Given the description of an element on the screen output the (x, y) to click on. 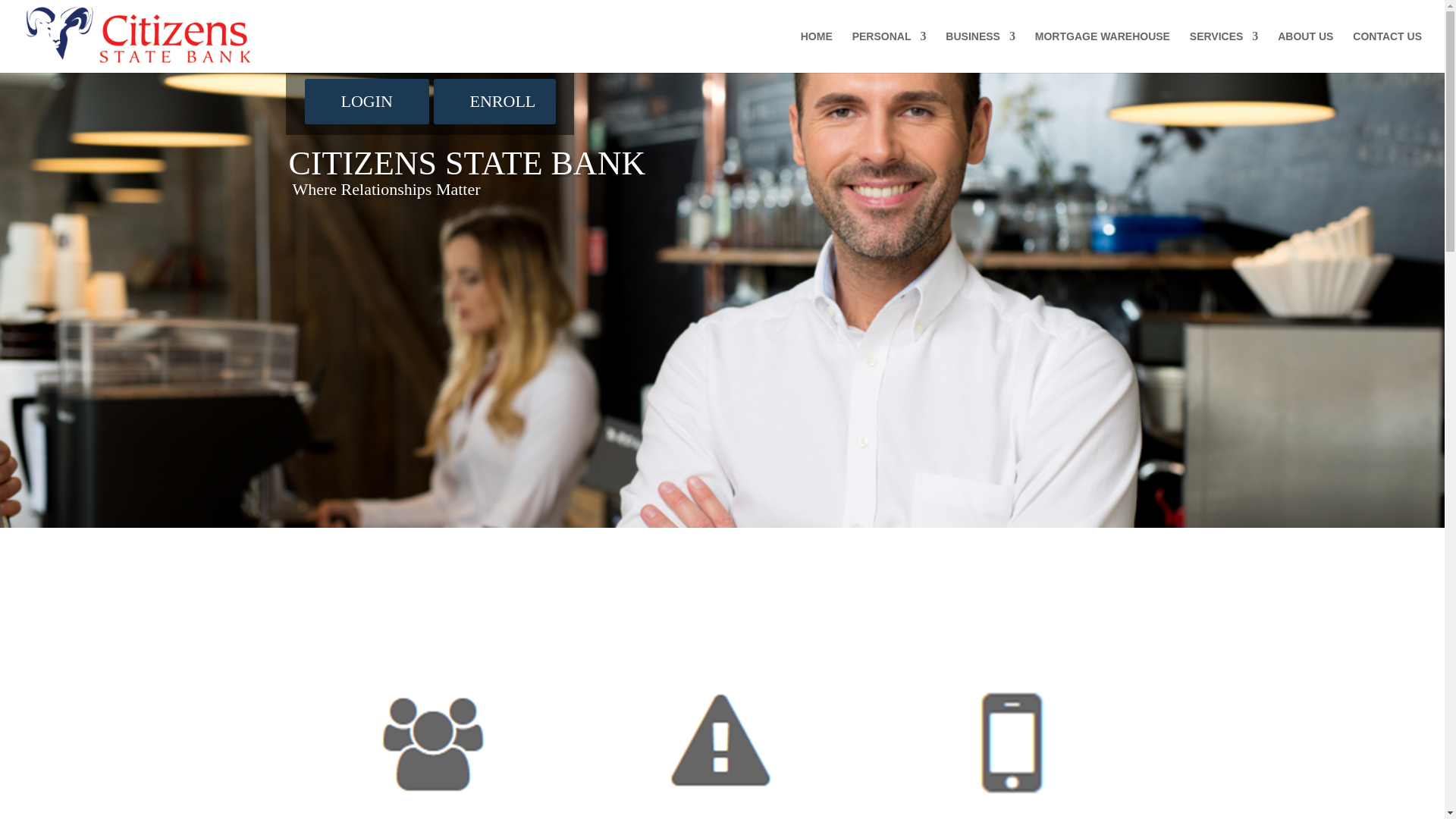
BUSINESS (979, 51)
ABOUT US (1305, 51)
MORTGAGE WAREHOUSE (1102, 51)
SERVICES (1224, 51)
CONTACT US (1387, 51)
PERSONAL (888, 51)
